Given the description of an element on the screen output the (x, y) to click on. 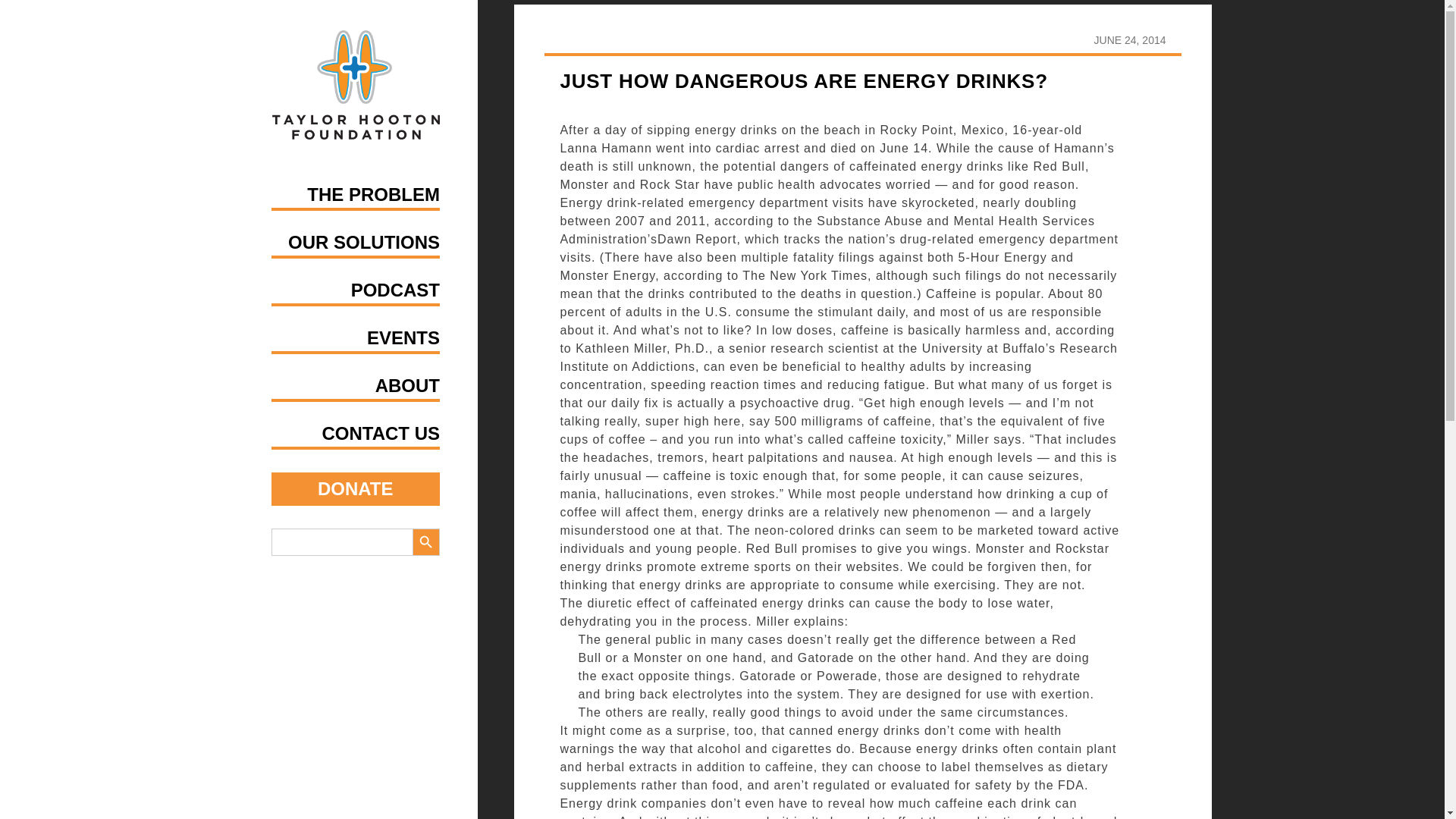
CONTACT US (380, 433)
ABOUT (407, 385)
THE PROBLEM (373, 194)
PODCAST (394, 290)
Search Button (425, 542)
EVENTS (402, 337)
OUR SOLUTIONS (363, 241)
Go to Taylor Hooton Foundation. (606, 20)
Go to the General category archives. (791, 20)
DONATE (355, 489)
